Given the description of an element on the screen output the (x, y) to click on. 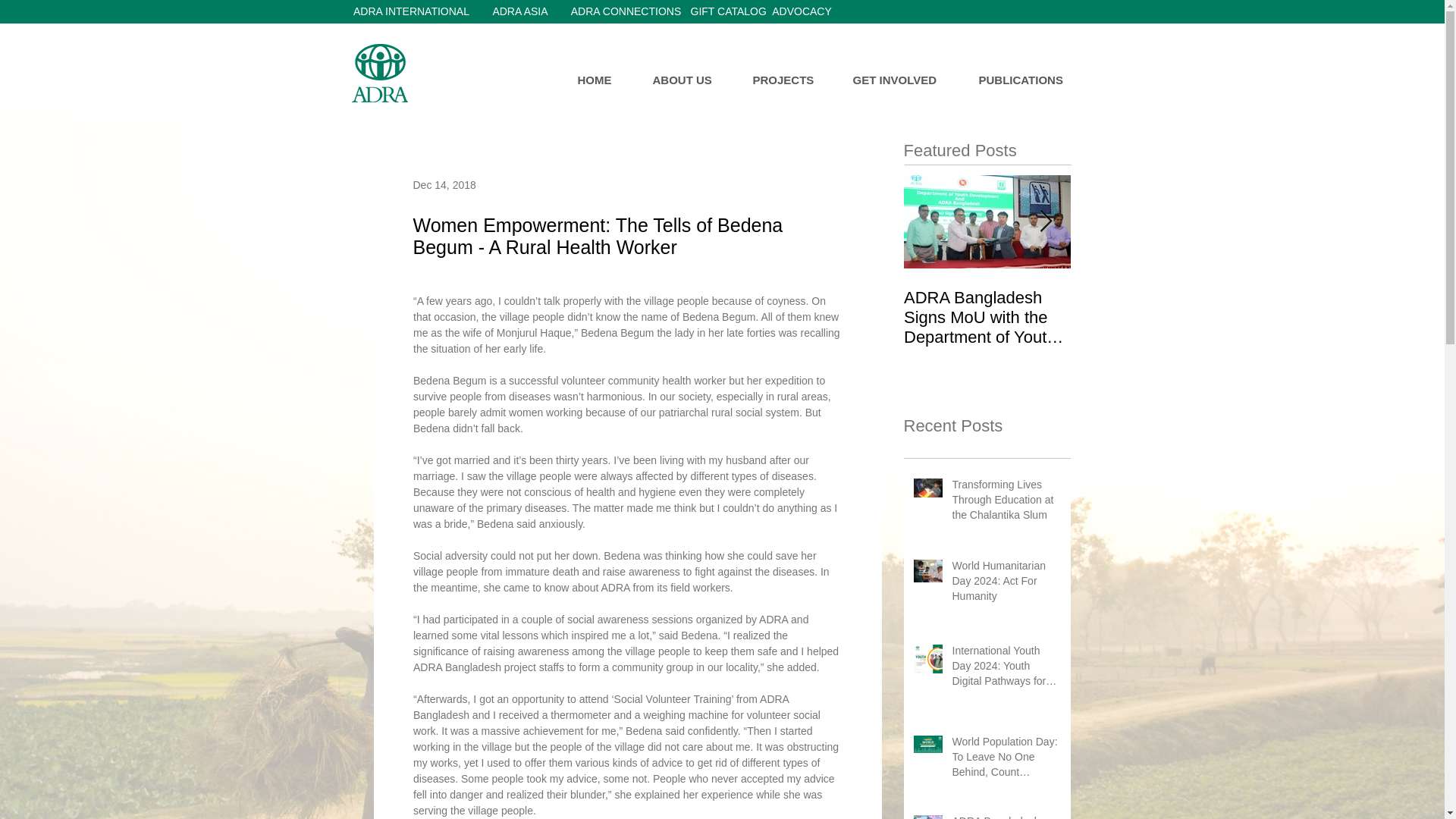
ADRA INTERNATIONAL (411, 11)
ADRA CONNECTIONS (626, 11)
GET INVOLVED (904, 80)
PUBLICATIONS (1031, 80)
World Population Day: To Leave No One Behind, Count Everyone (1006, 759)
World Humanitarian Day 2024: Act For Humanity (1006, 583)
GIFT CATALOG (727, 11)
ADVOCACY (801, 11)
Transforming Lives Through Education at the Chalantika Slum (1006, 502)
